Given the description of an element on the screen output the (x, y) to click on. 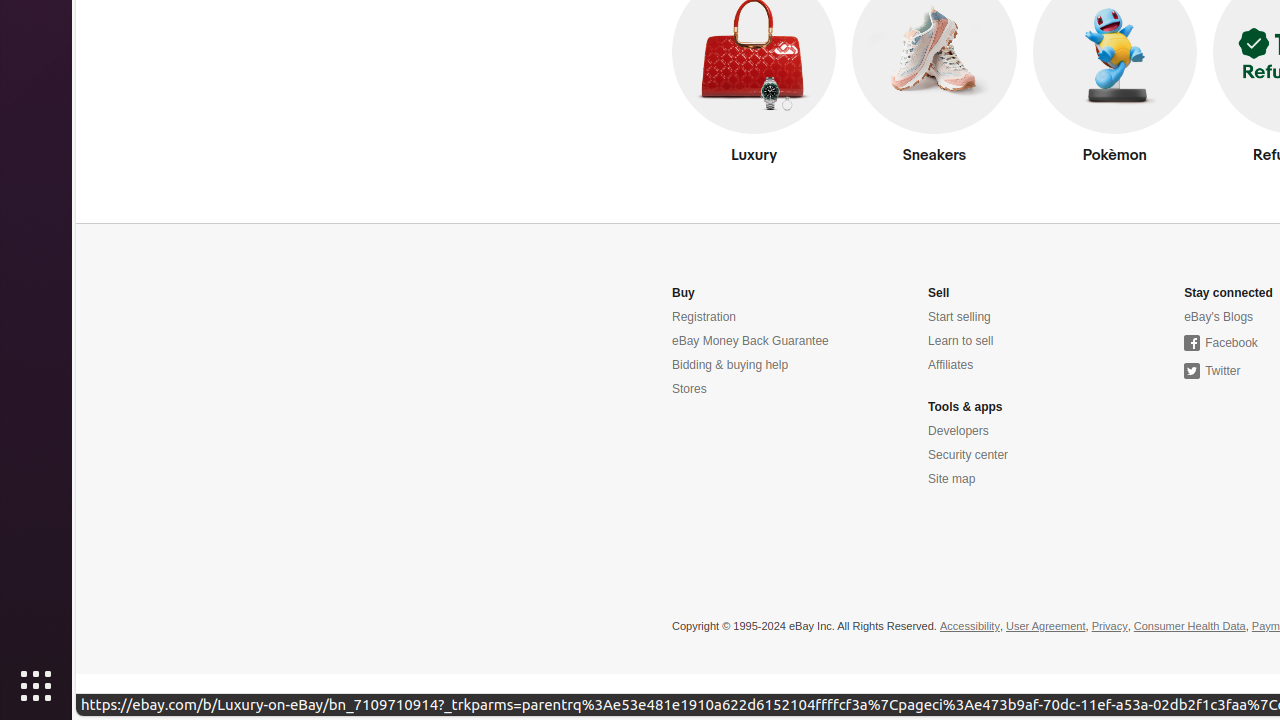
Facebook Element type: link (1221, 343)
Consumer Health Data Element type: link (1189, 627)
Affiliates Element type: link (951, 365)
Twitter Element type: link (1212, 371)
User Agreement Element type: link (1046, 627)
